Given the description of an element on the screen output the (x, y) to click on. 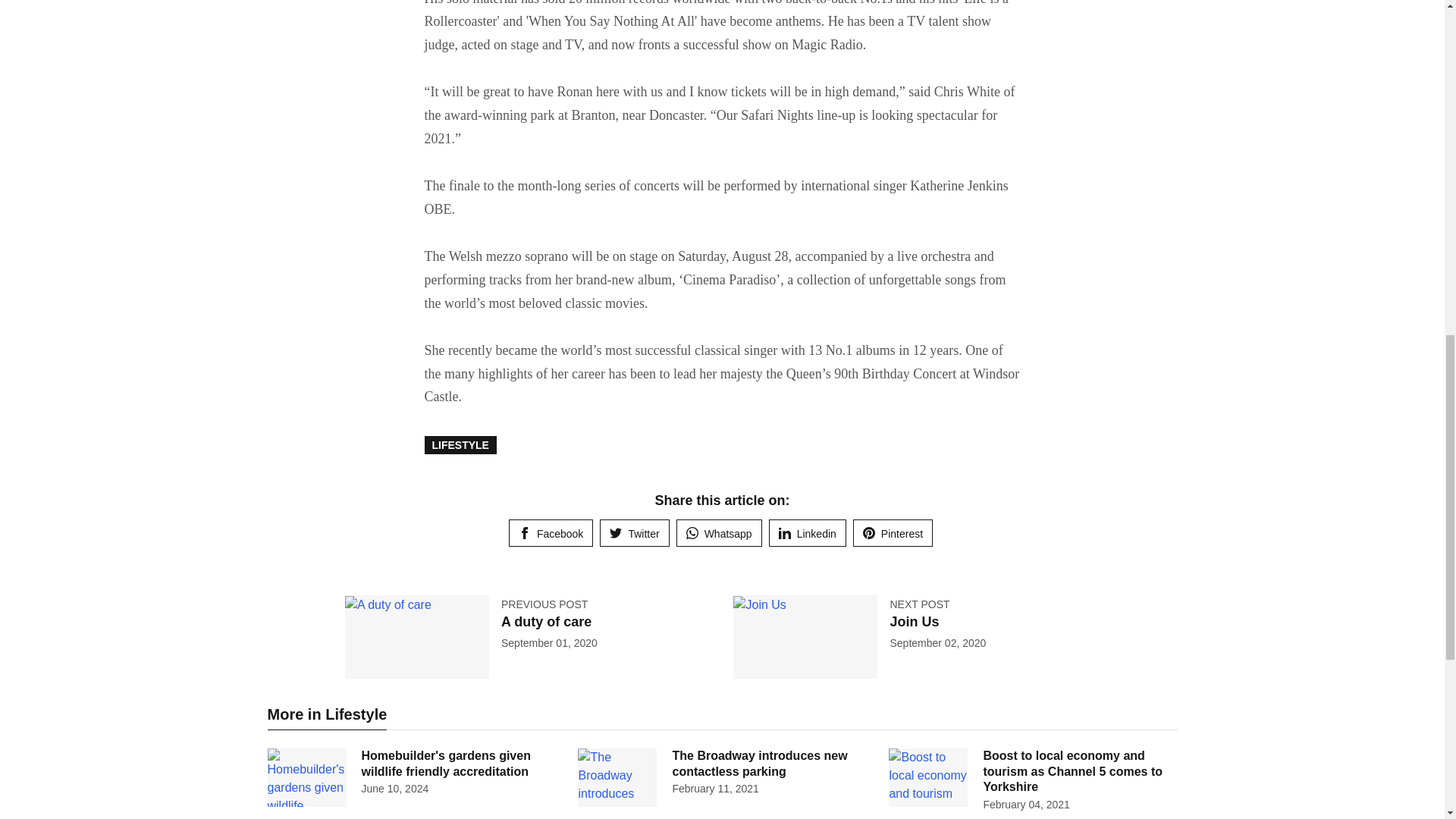
Share on Twitter (633, 533)
A duty of care (545, 621)
Facebook (550, 533)
The Broadway introduces new contactless parking (759, 763)
LIFESTYLE (460, 444)
NEXT POST (919, 604)
PREVIOUS POST (544, 604)
01 September, 2020 (548, 643)
11 February, 2021 (714, 788)
Share on Linkedin (806, 533)
